Given the description of an element on the screen output the (x, y) to click on. 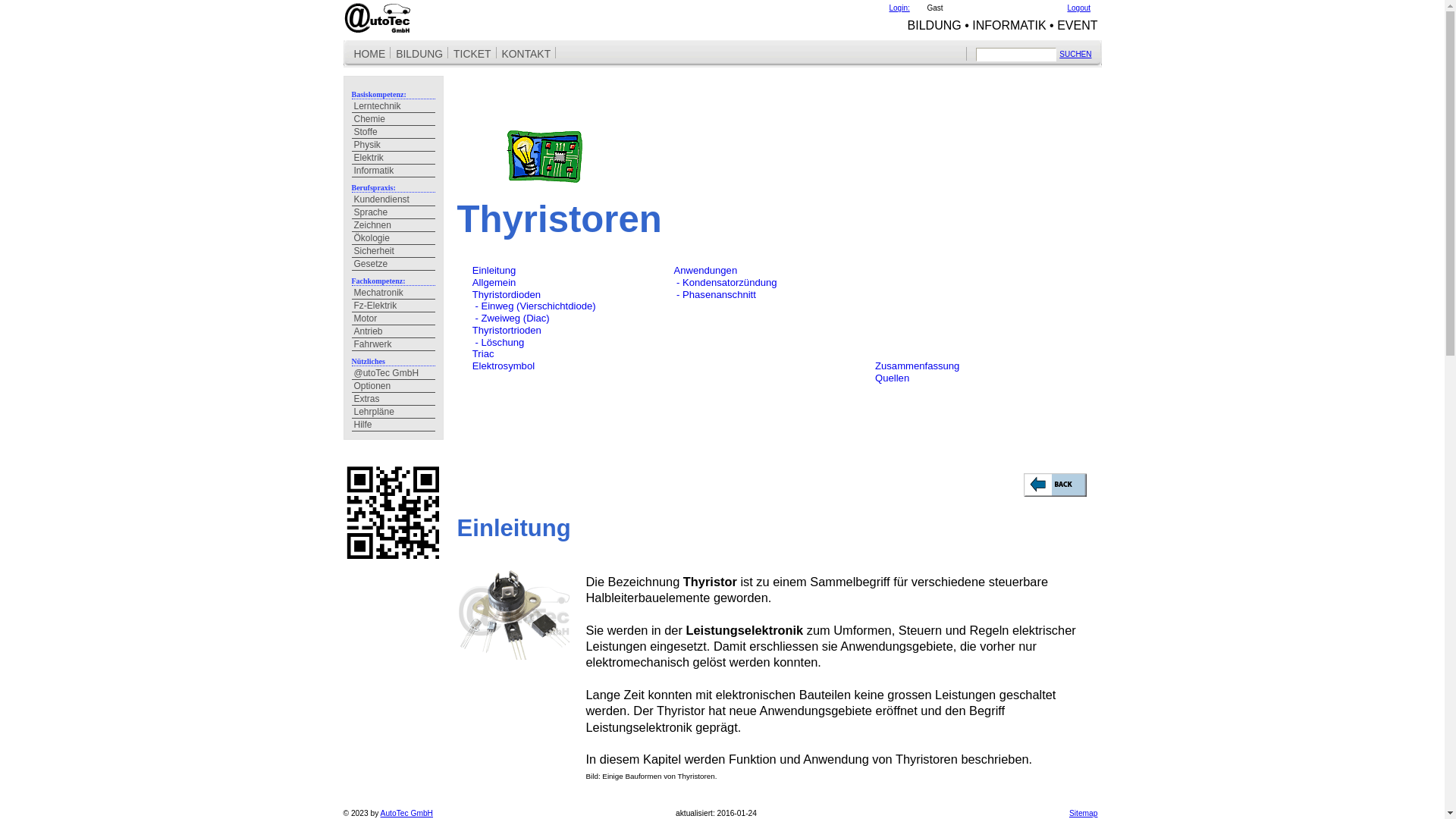
TICKET Element type: text (471, 53)
Stoffe Element type: text (393, 131)
Extras Element type: text (393, 398)
SUCHEN Element type: text (1075, 54)
Thyristordioden Element type: text (506, 294)
Triac Element type: text (483, 353)
Motor Element type: text (393, 318)
Sprache Element type: text (393, 212)
Fahrwerk Element type: text (393, 344)
Informatik Element type: text (393, 170)
Home @utoTec GmbH Element type: hover (376, 18)
Lerntechnik Element type: text (393, 106)
HOME Element type: text (369, 53)
Antrieb Element type: text (393, 331)
Kundendienst Element type: text (393, 199)
Fz-Elektrik Element type: text (393, 305)
Optionen Element type: text (393, 385)
Login: Element type: text (898, 7)
Allgemein Element type: text (494, 282)
Elektrosymbol Element type: text (503, 365)
Elektrotechnik Element type: hover (544, 156)
Einleitung Element type: text (494, 270)
@utoTec GmbH Element type: text (393, 373)
Zusammenfassung Element type: text (917, 365)
Mechatronik Element type: text (393, 292)
Zeichnen Element type: text (393, 225)
Sitemap Element type: text (1083, 813)
 - Einweg (Vierschichtdiode) Element type: text (534, 305)
  Element type: text (458, 68)
AutoTec GmbH Element type: text (406, 813)
Thyristortrioden Element type: text (506, 329)
Chemie Element type: text (393, 118)
 - Phasenanschnitt Element type: text (714, 294)
BILDUNG Element type: text (418, 53)
Anwendungen Element type: text (705, 270)
 - Zweiweg (Diac) Element type: text (510, 317)
Sicherheit Element type: text (393, 250)
  Element type: text (458, 439)
Logout Element type: text (1079, 7)
Quellen Element type: text (892, 377)
Physik Element type: text (393, 144)
Hilfe Element type: text (393, 424)
Elektrik Element type: text (393, 157)
Gesetze Element type: text (393, 263)
KONTAKT Element type: text (525, 53)
